Given the description of an element on the screen output the (x, y) to click on. 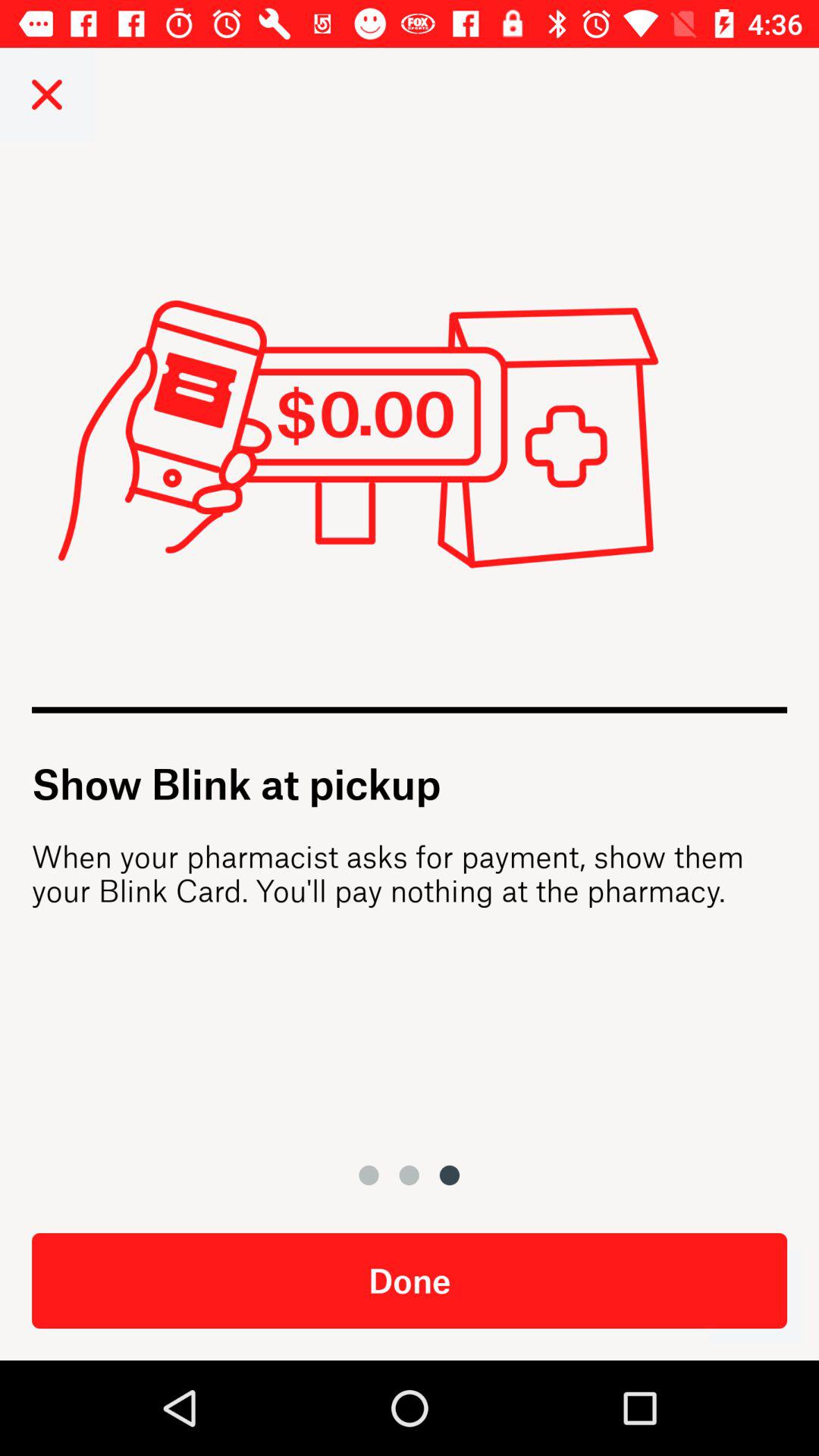
close page (46, 94)
